Given the description of an element on the screen output the (x, y) to click on. 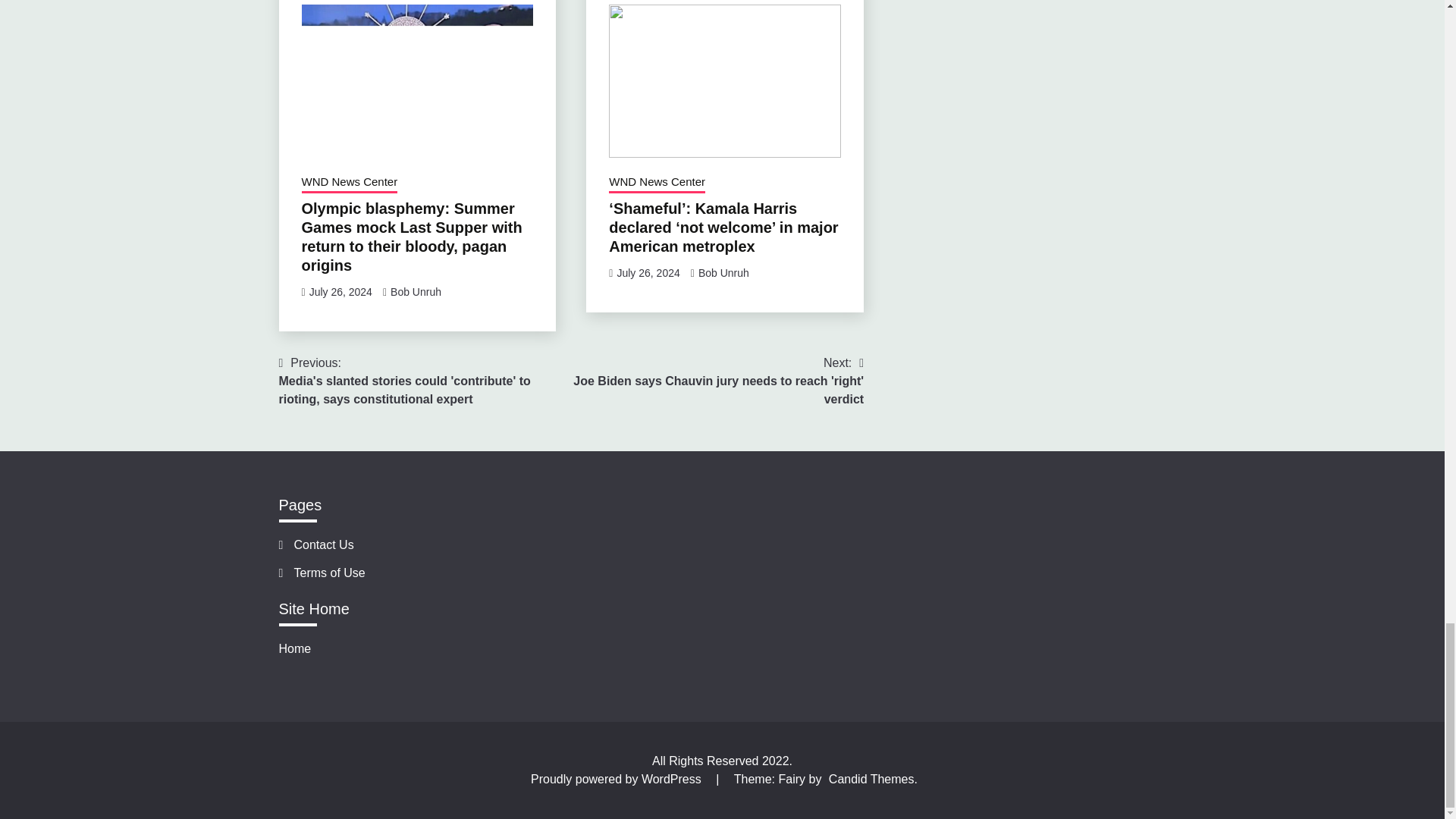
Bob Unruh (415, 291)
July 26, 2024 (647, 272)
Bob Unruh (723, 272)
WND News Center (349, 183)
July 26, 2024 (340, 291)
WND News Center (656, 183)
